Given the description of an element on the screen output the (x, y) to click on. 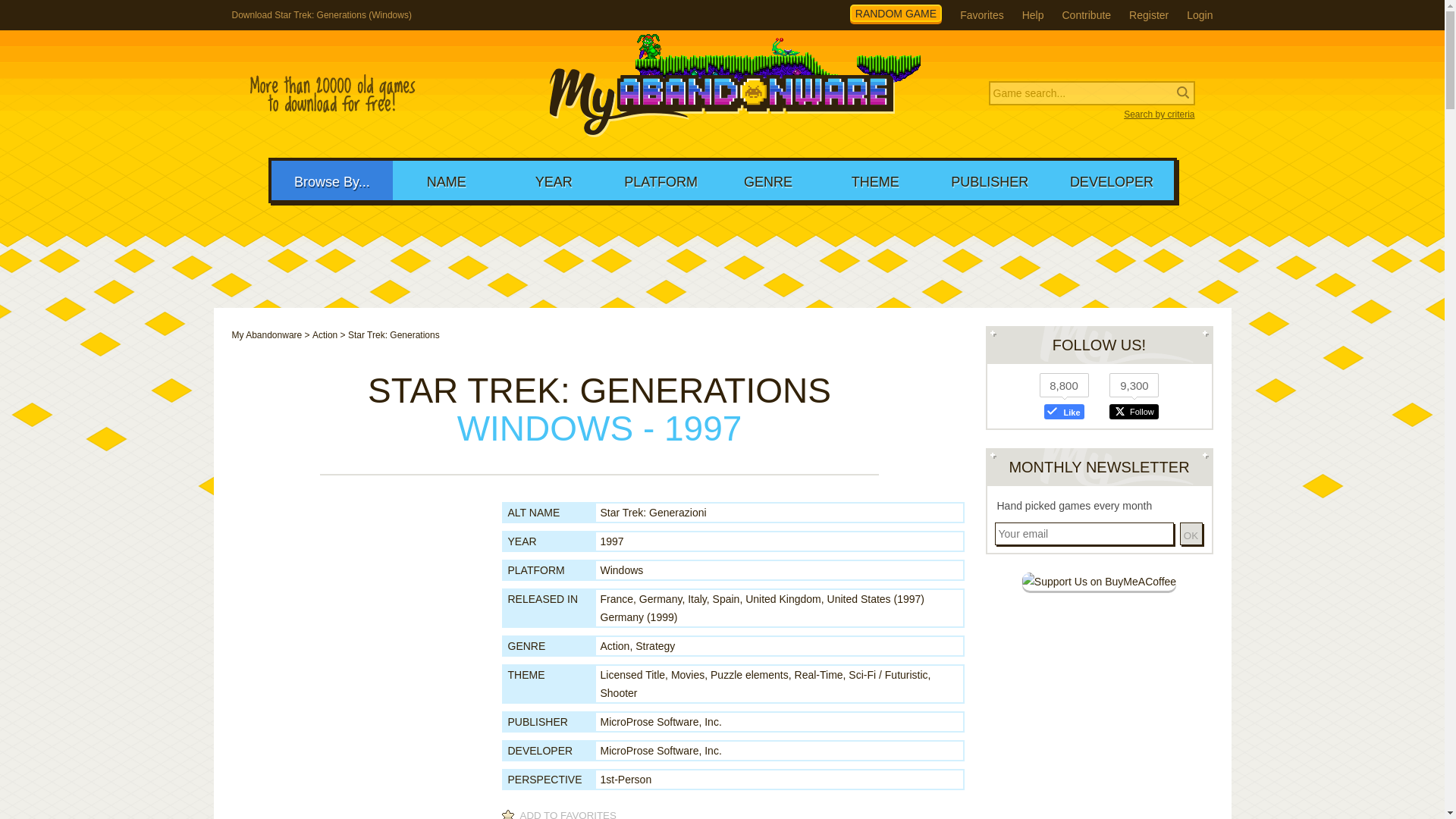
RANDOM GAME (896, 13)
Login (1199, 14)
Browse games of this genre (614, 645)
Login MAW (1199, 14)
Help us by contributing (1085, 14)
search (98, 12)
DEVELOPER (1112, 179)
MicroProse Software, Inc. (660, 750)
Create an account (1149, 14)
ADD TO FAVORITES (561, 813)
Shooter (618, 693)
Help (1032, 14)
Browse games of this theme (818, 674)
Strategy (654, 645)
Windows (621, 570)
